Given the description of an element on the screen output the (x, y) to click on. 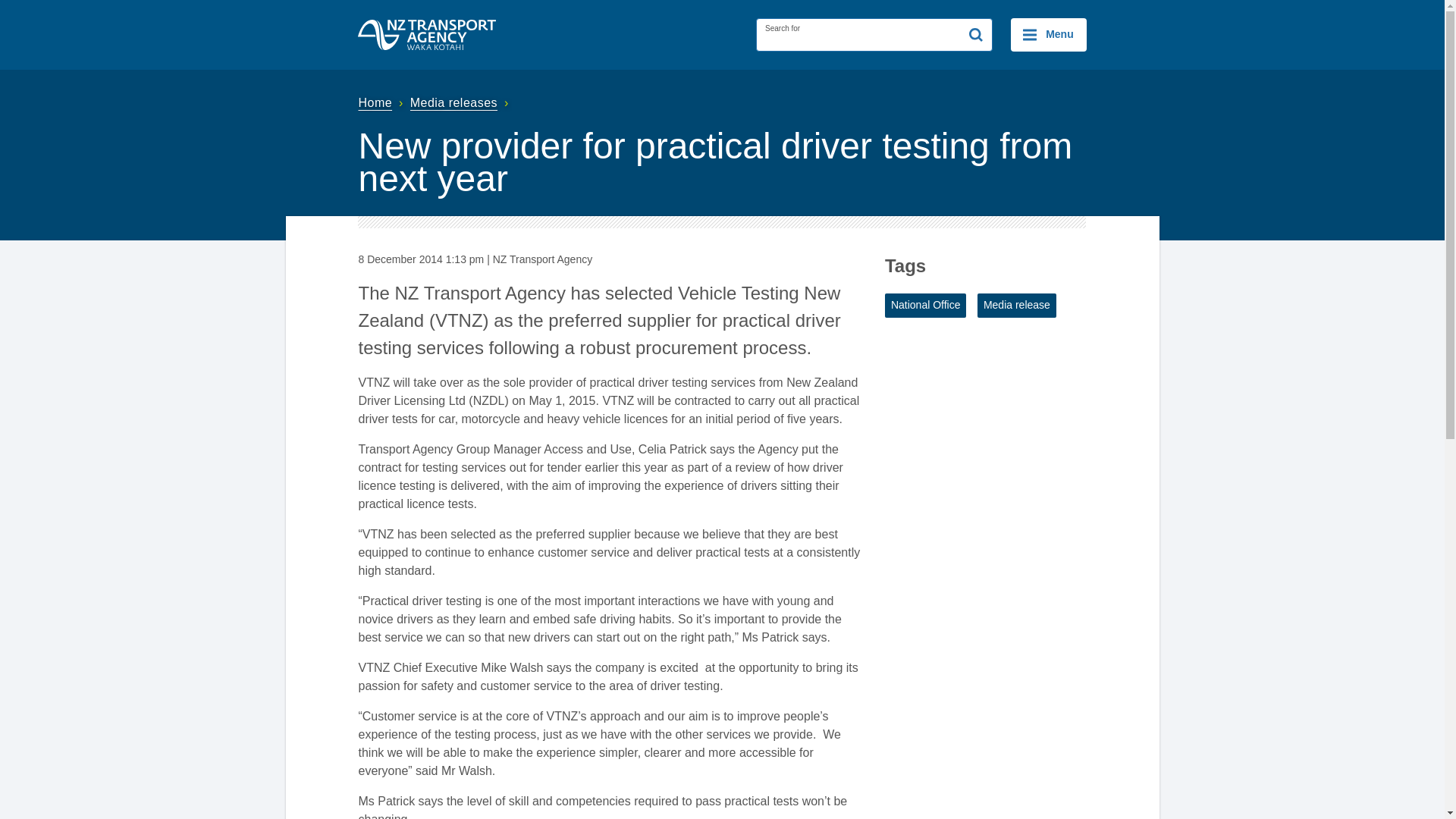
Menu (1048, 34)
Home (382, 102)
View all posts tagged 'Media release' (1016, 305)
View all posts tagged 'National Office' (925, 305)
NZ Transport Agency Waka Kotahi (427, 34)
